Given the description of an element on the screen output the (x, y) to click on. 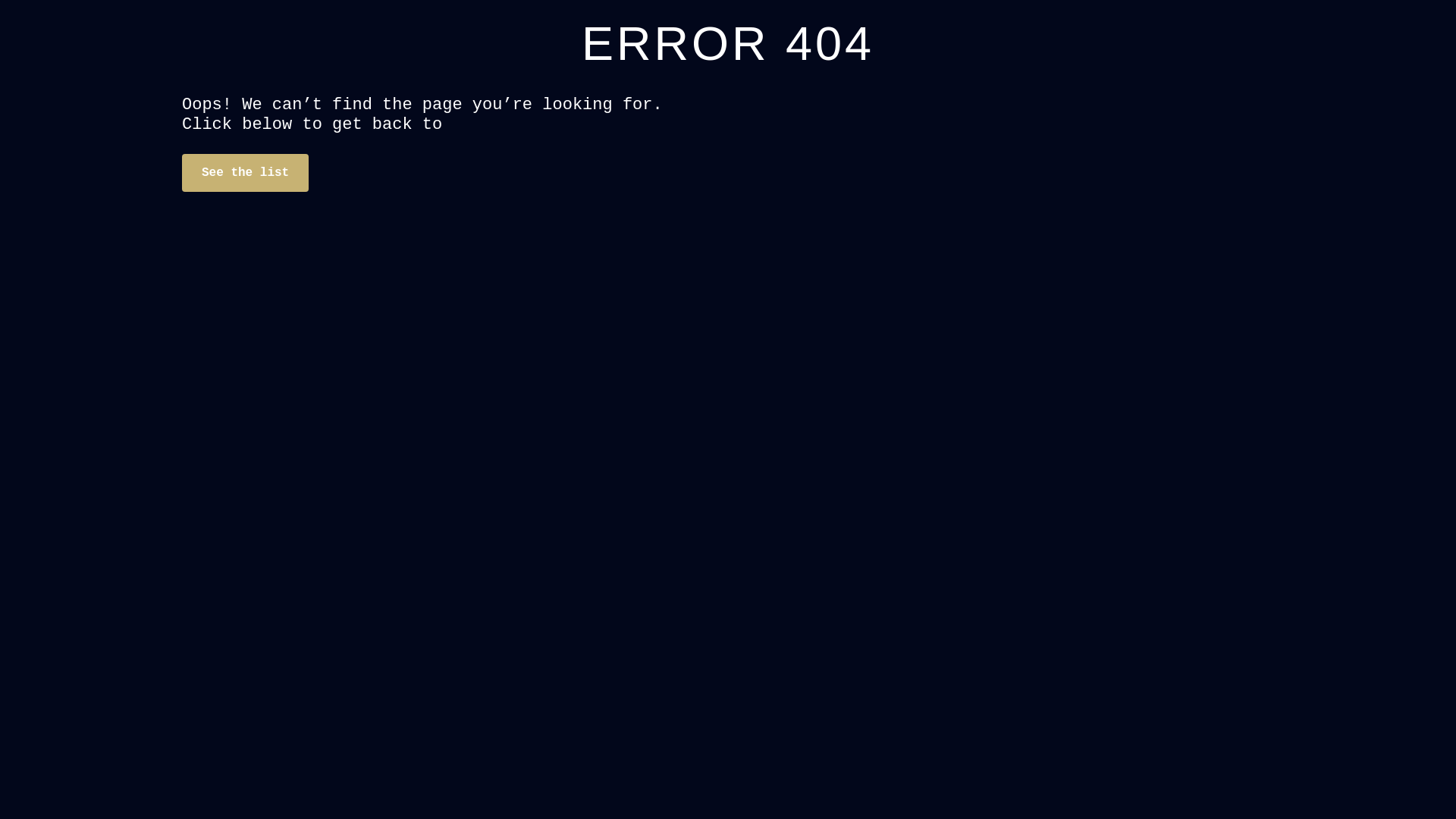
See the list Element type: text (245, 172)
